Given the description of an element on the screen output the (x, y) to click on. 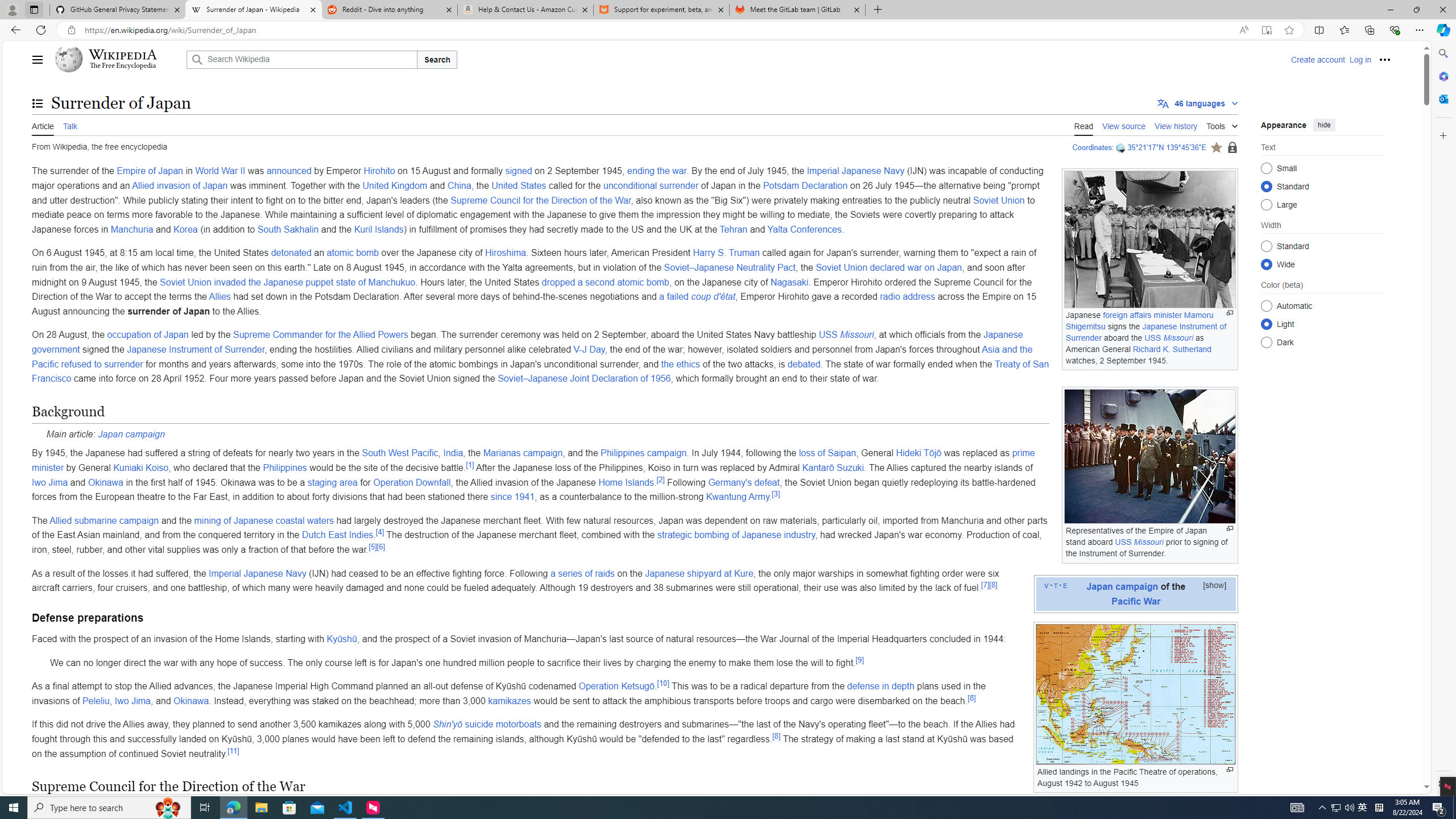
Peleliu (95, 700)
Hirohito (379, 171)
t (1055, 584)
View history (1176, 124)
Soviet Union declared war on Japan (888, 267)
Supreme Commander for the Allied Powers (319, 334)
since 1941 (512, 497)
loss of Saipan (826, 452)
Allies (219, 296)
Light (1266, 323)
Dark (1266, 341)
e (1064, 584)
Surrender of Japan - Wikipedia (253, 9)
